Given the description of an element on the screen output the (x, y) to click on. 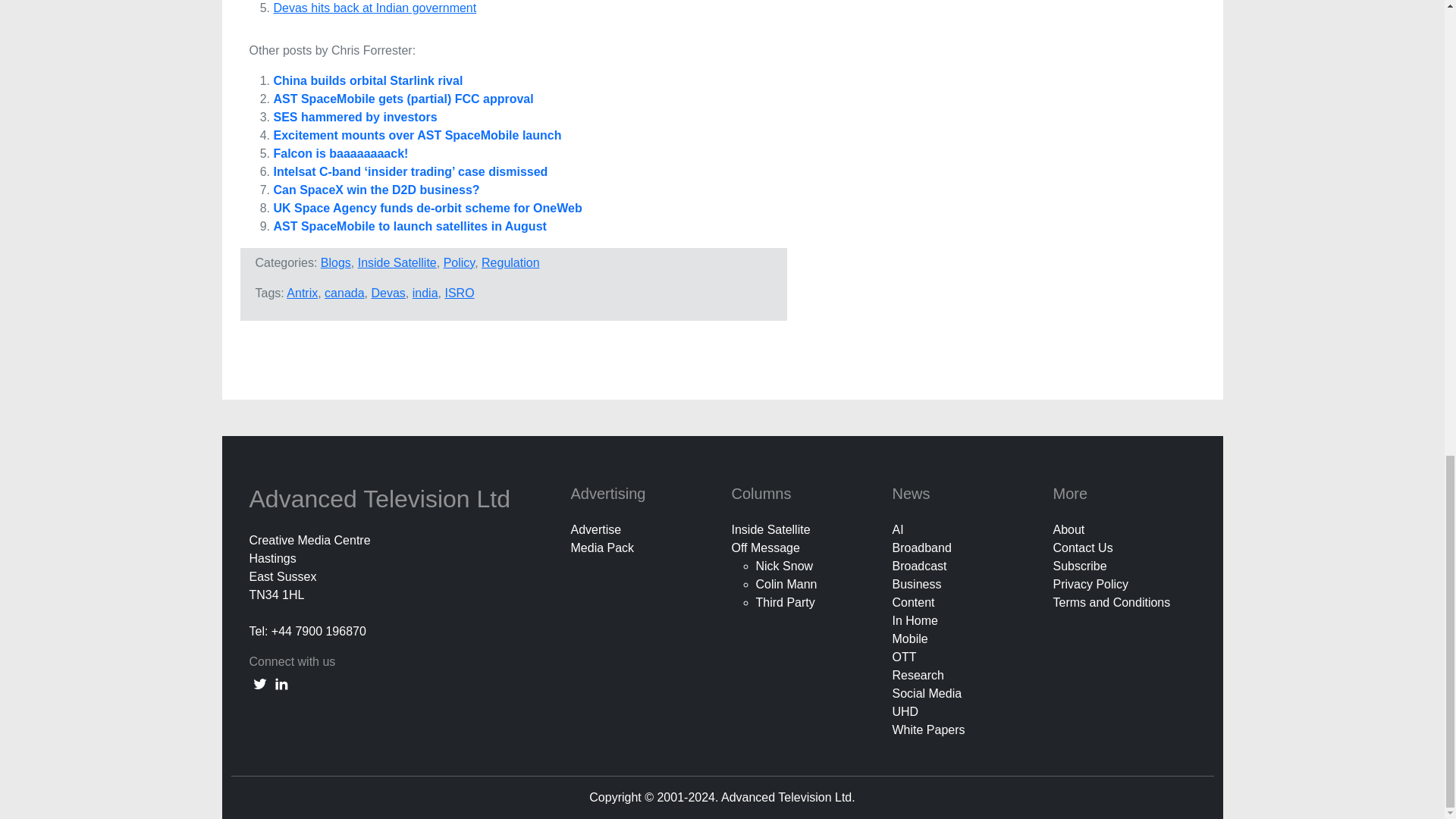
UK Space Agency funds de-orbit scheme for OneWeb (426, 207)
AST SpaceMobile to launch satellites in August (409, 226)
Policy (460, 262)
Devas hits back at Indian government (374, 7)
Excitement mounts over AST SpaceMobile launch (416, 134)
Inside Satellite (397, 262)
Falcon is baaaaaaaack! (340, 153)
Can SpaceX win the D2D business? (376, 189)
Antrix (301, 292)
Devas hits back at Indian government (374, 7)
